Given the description of an element on the screen output the (x, y) to click on. 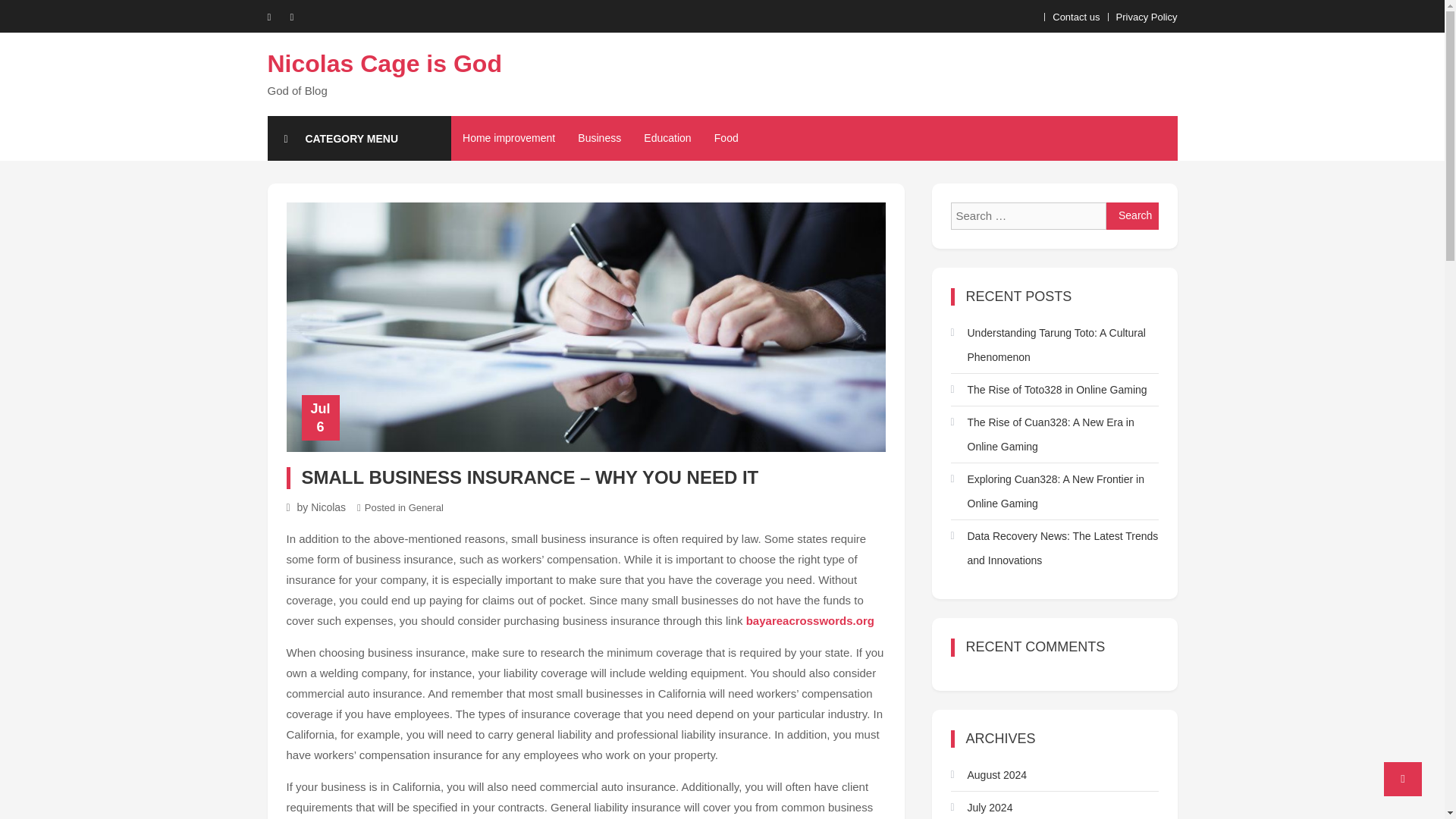
Home improvement (508, 138)
Search (1132, 216)
Contact us (1075, 16)
Education (666, 138)
Business (598, 138)
bayareacrosswords.org (810, 620)
Nicolas (328, 507)
Privacy Policy (1146, 16)
Search (1132, 216)
Understanding Tarung Toto: A Cultural Phenomenon (1054, 345)
Nicolas Cage is God (383, 62)
General (426, 507)
Food (726, 138)
Search (1132, 216)
